Given the description of an element on the screen output the (x, y) to click on. 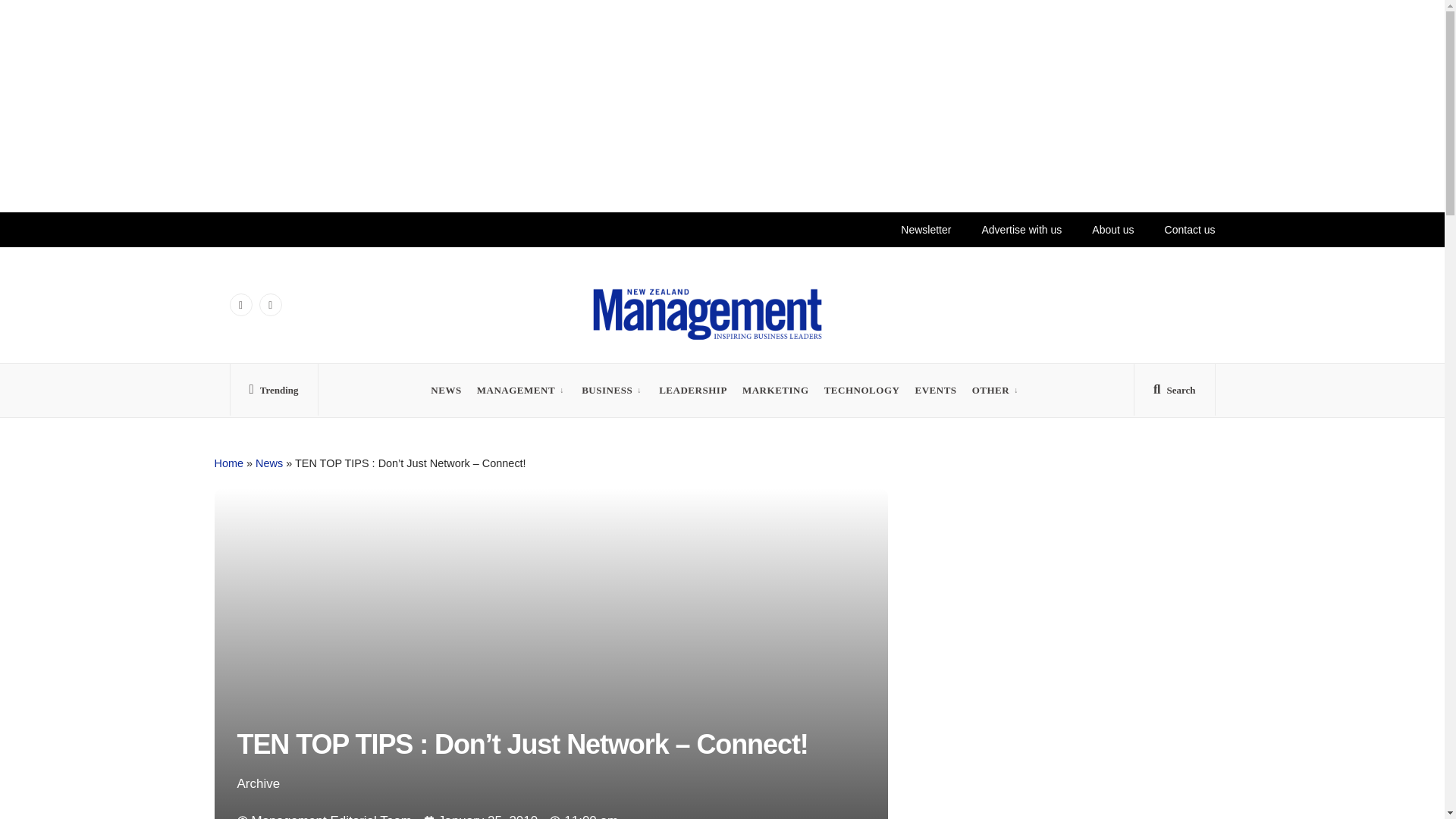
OTHER (991, 390)
NEWS (445, 390)
Trending (273, 392)
LEADERSHIP (692, 390)
About us (1110, 229)
MANAGEMENT (515, 390)
EVENTS (935, 390)
Archive (257, 783)
3rd party ad content (1066, 596)
Contact us (1189, 229)
BUSINESS (605, 390)
TECHNOLOGY (861, 390)
Home (228, 463)
Search (1174, 392)
